Given the description of an element on the screen output the (x, y) to click on. 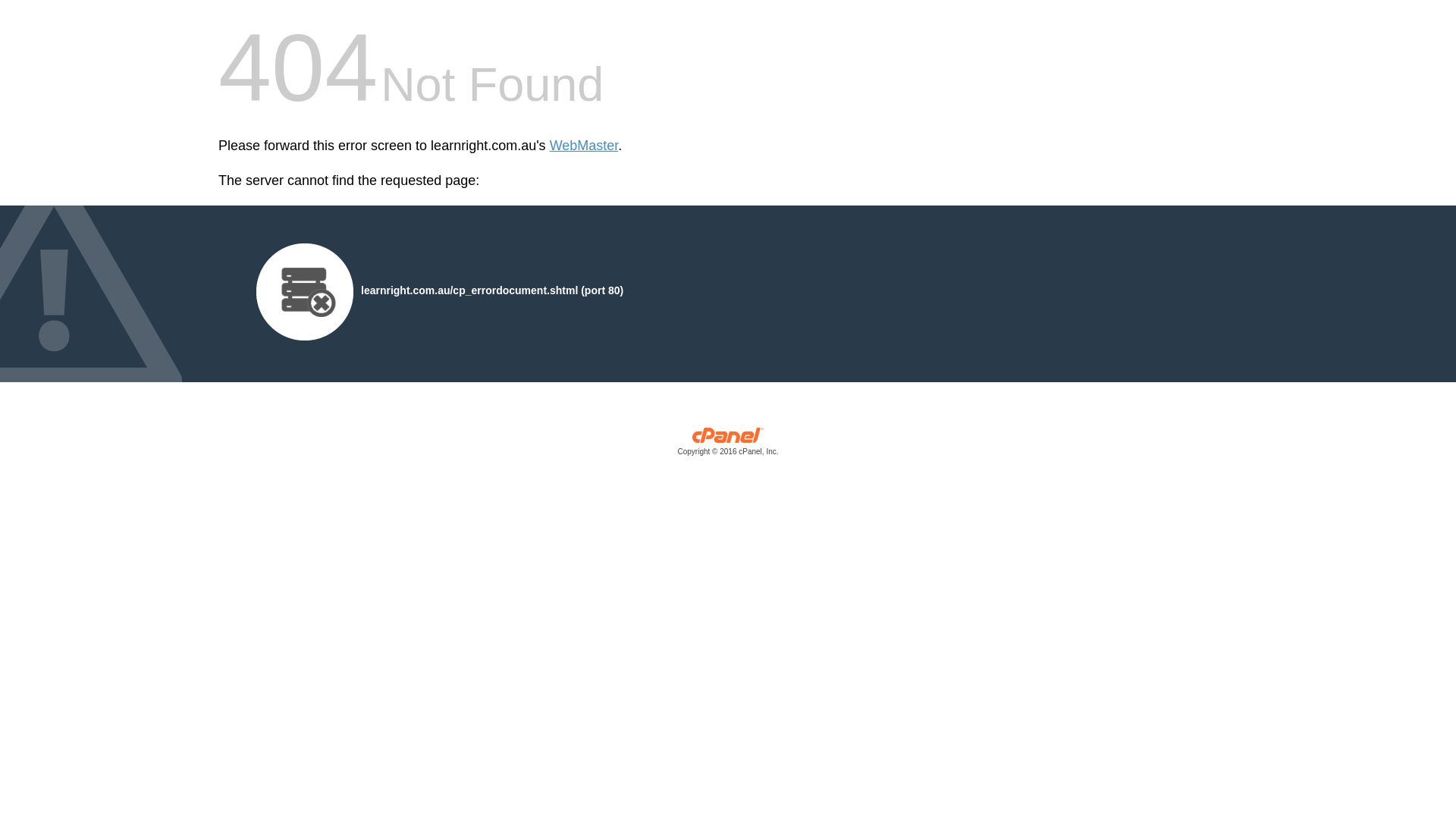
WebMaster Element type: text (583, 145)
